Given the description of an element on the screen output the (x, y) to click on. 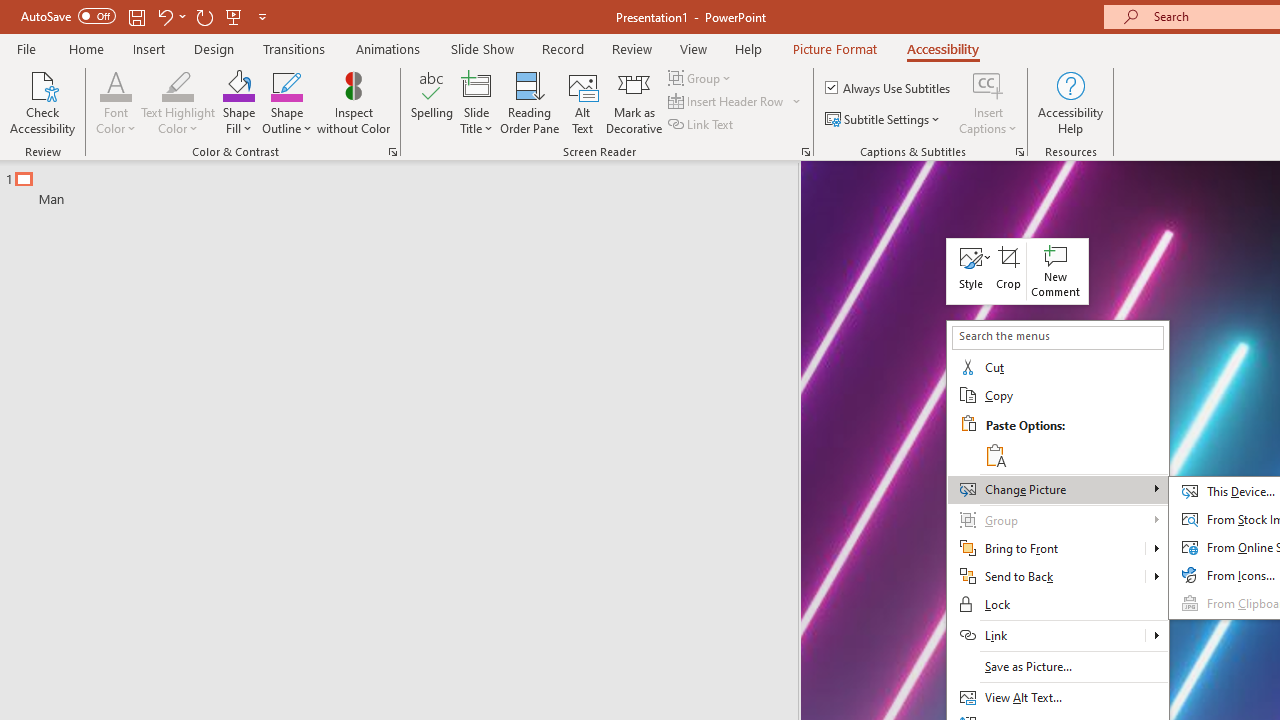
Bring to Front (1057, 548)
Class: NetUIToolWindow (1017, 271)
